Given the description of an element on the screen output the (x, y) to click on. 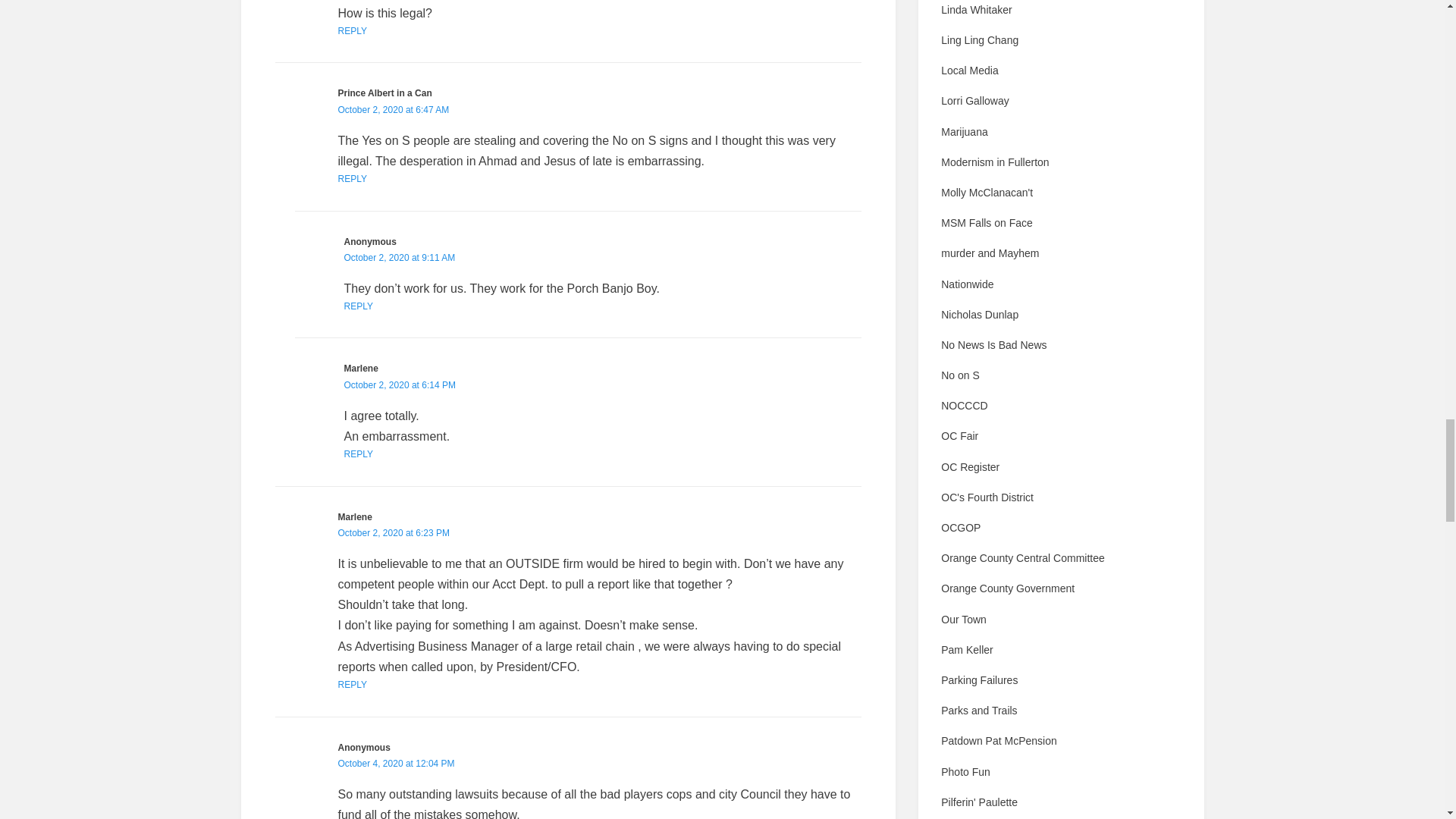
REPLY (351, 684)
REPLY (357, 306)
October 2, 2020 at 9:11 AM (399, 257)
October 2, 2020 at 6:47 AM (393, 109)
REPLY (351, 30)
October 2, 2020 at 6:14 PM (399, 385)
October 4, 2020 at 12:04 PM (395, 763)
REPLY (351, 178)
October 2, 2020 at 6:23 PM (393, 532)
REPLY (357, 453)
